Given the description of an element on the screen output the (x, y) to click on. 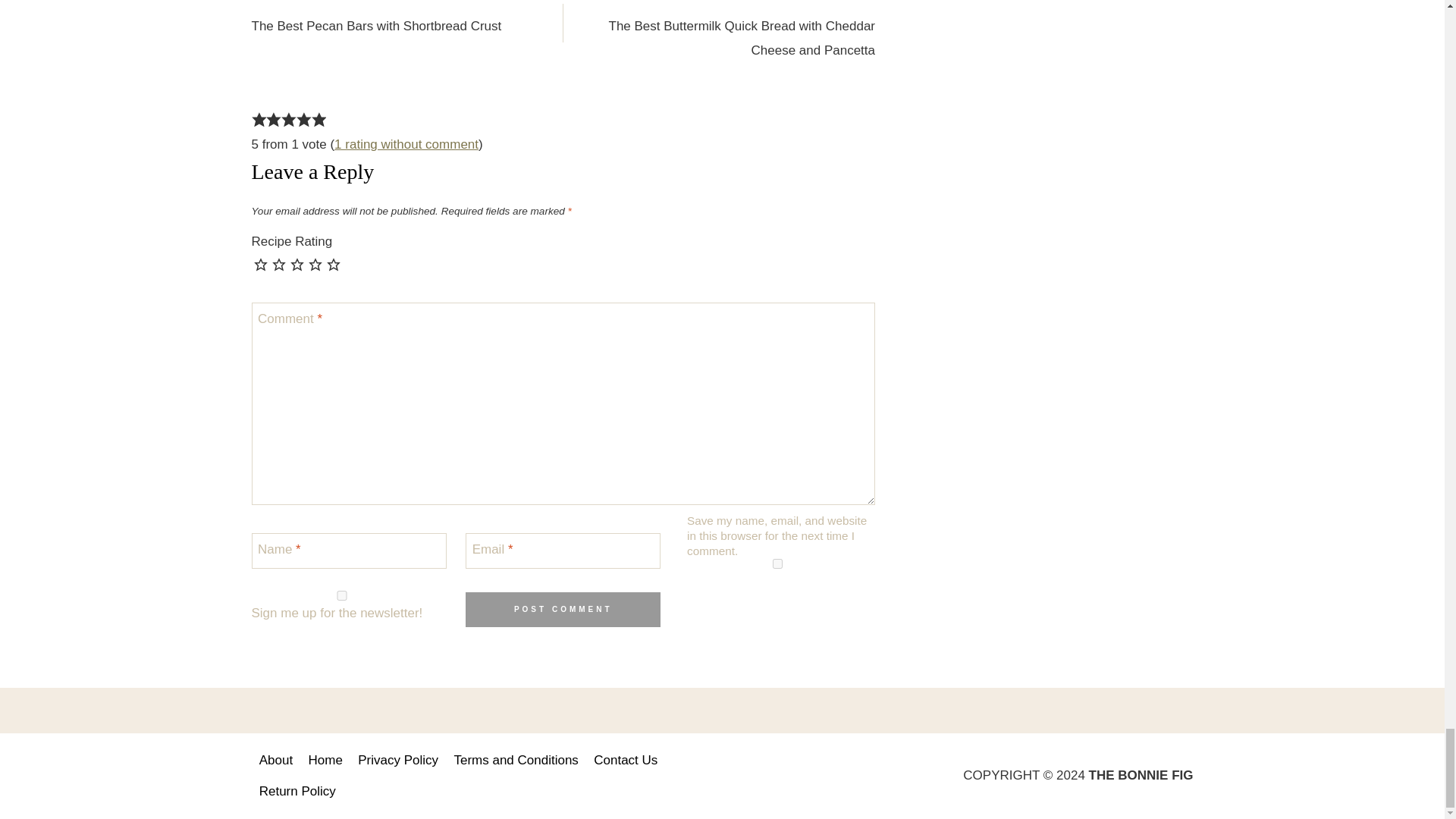
1 (341, 595)
yes (777, 563)
Post Comment (563, 609)
